Given the description of an element on the screen output the (x, y) to click on. 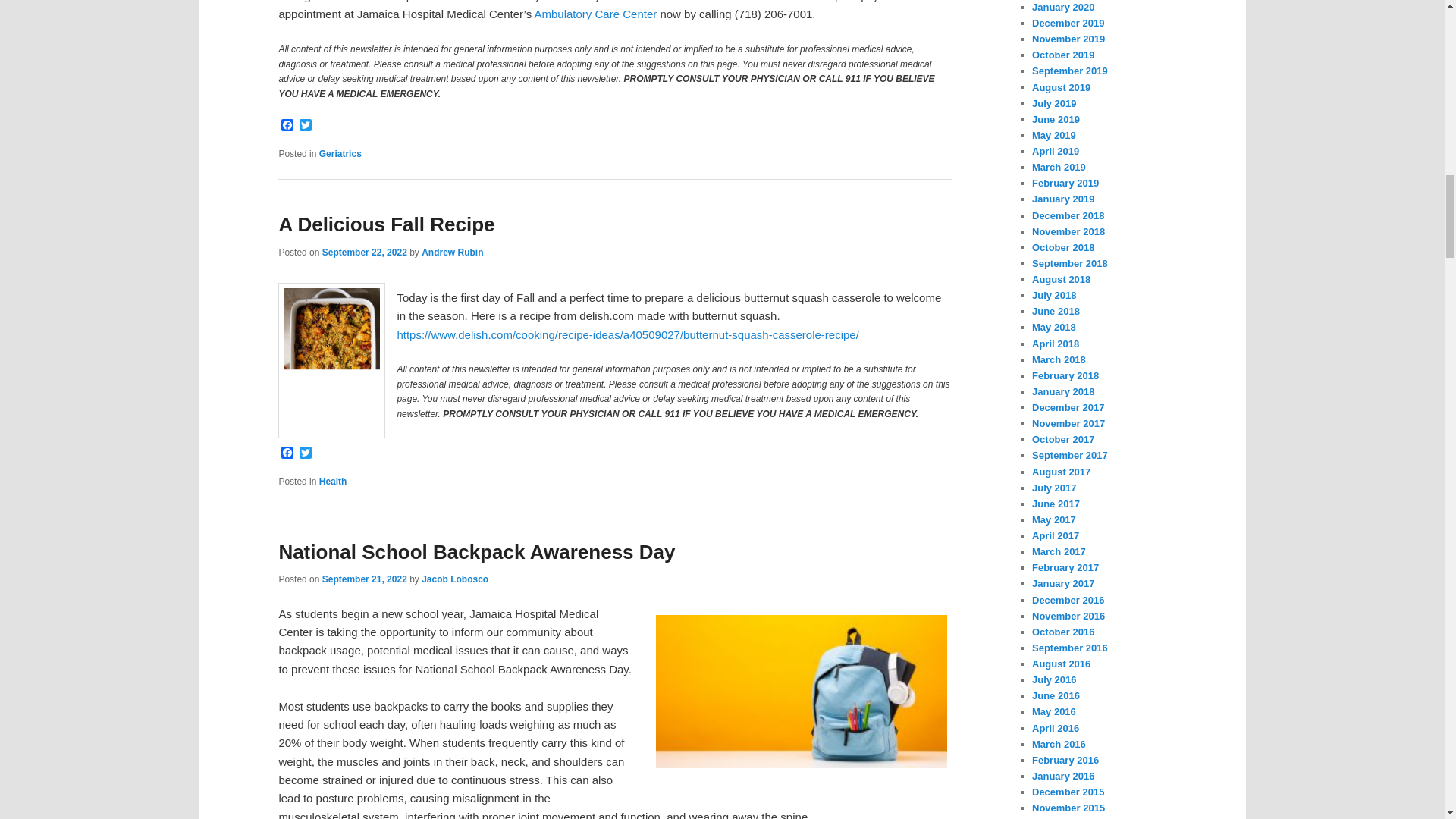
Facebook (287, 453)
September 22, 2022 (364, 252)
Twitter (305, 453)
6:32 pm (364, 579)
Jacob Lobosco (454, 579)
View all posts by Andrew Rubin (452, 252)
National School Backpack Awareness Day (476, 550)
View all posts by Jacob Lobosco (454, 579)
Facebook (287, 125)
Facebook (287, 125)
